Given the description of an element on the screen output the (x, y) to click on. 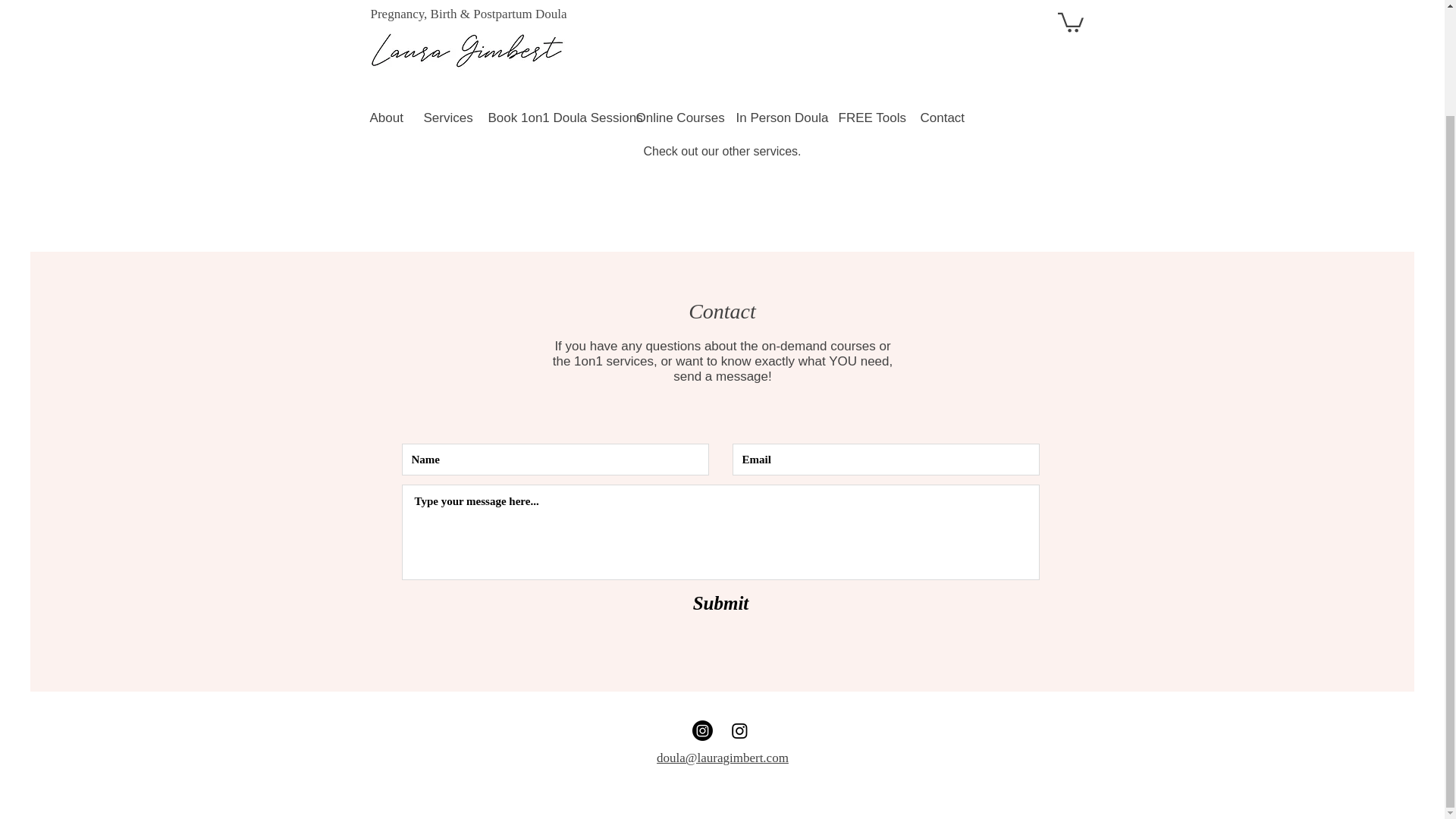
Services (444, 5)
Contact (940, 5)
Online Courses (674, 5)
About (385, 5)
Submit (720, 603)
Book 1on1 Doula Sessions (550, 5)
In Person Doula (776, 5)
FREE Tools (867, 5)
